Given the description of an element on the screen output the (x, y) to click on. 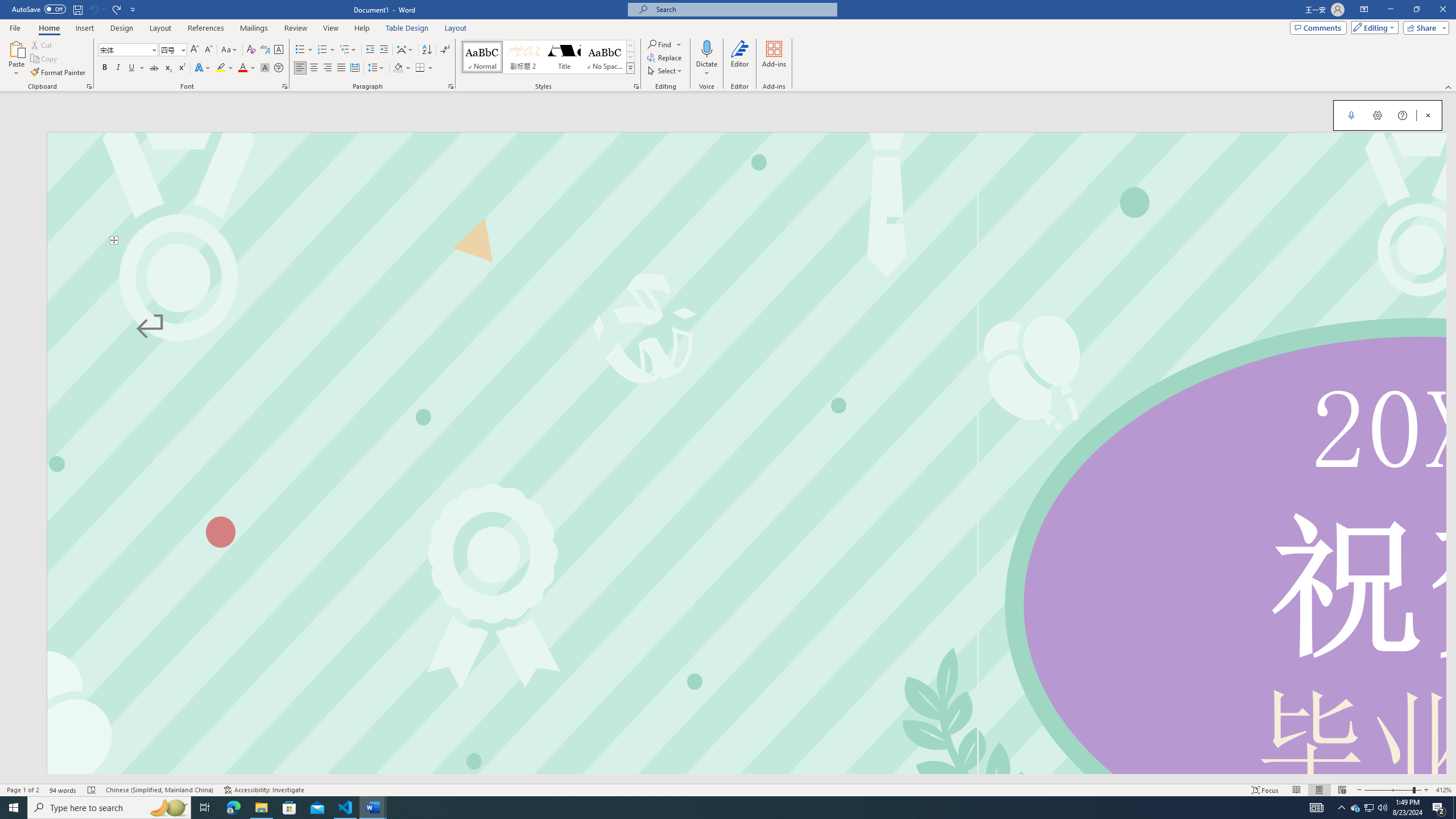
Editor (739, 58)
Class: NetUIScrollBar (722, 778)
Start Dictation (1350, 115)
Superscript (180, 67)
Font (128, 49)
Bullets (304, 49)
Insert (83, 28)
Styles... (635, 85)
Change Case (229, 49)
Save (77, 9)
Font... (285, 85)
Font Color Red (241, 67)
Class: MsoCommandBar (728, 789)
Accessibility Checker Accessibility: Investigate (263, 790)
